Given the description of an element on the screen output the (x, y) to click on. 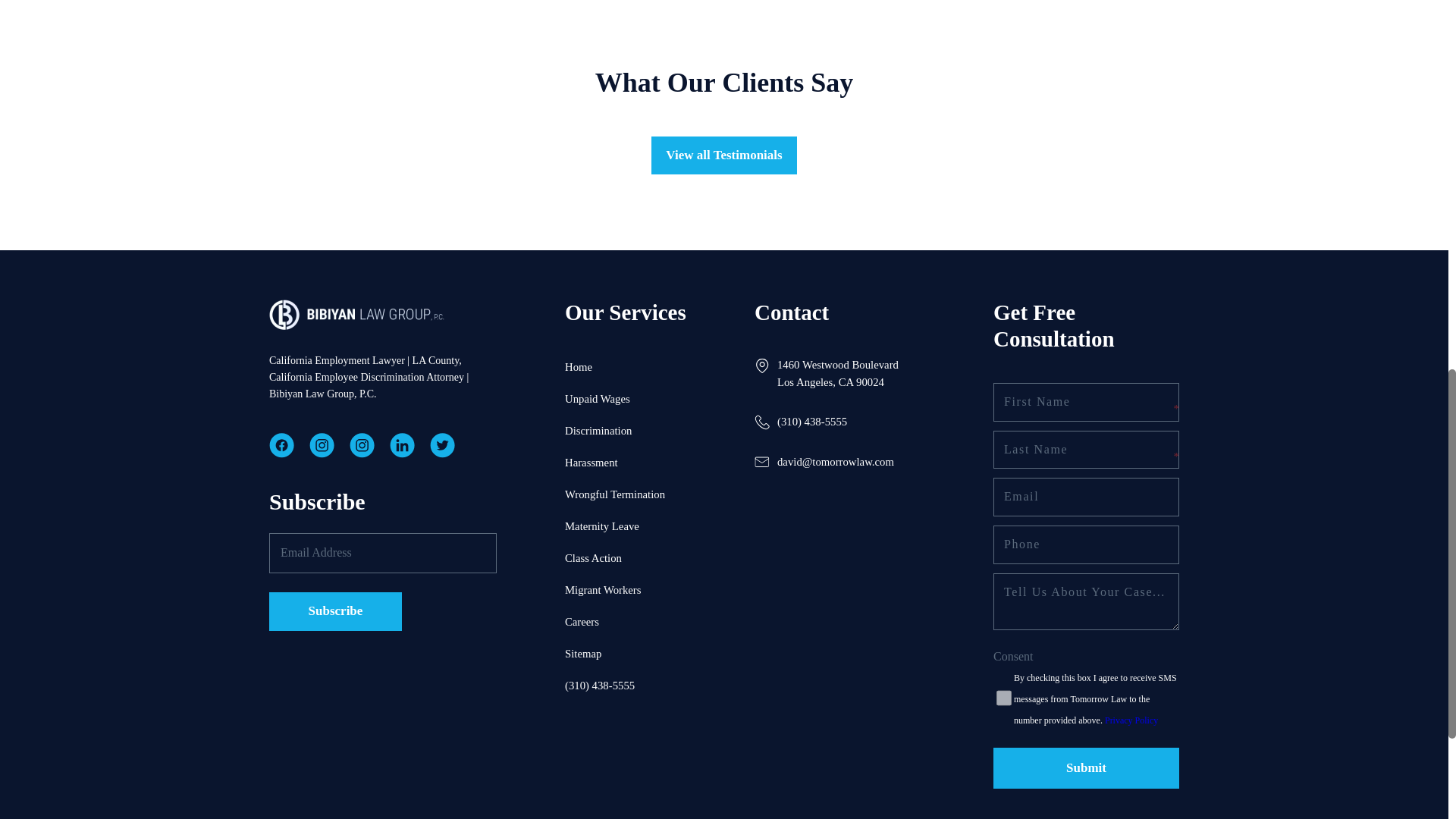
View all Testimonials (723, 155)
Subscribe (335, 611)
